Given the description of an element on the screen output the (x, y) to click on. 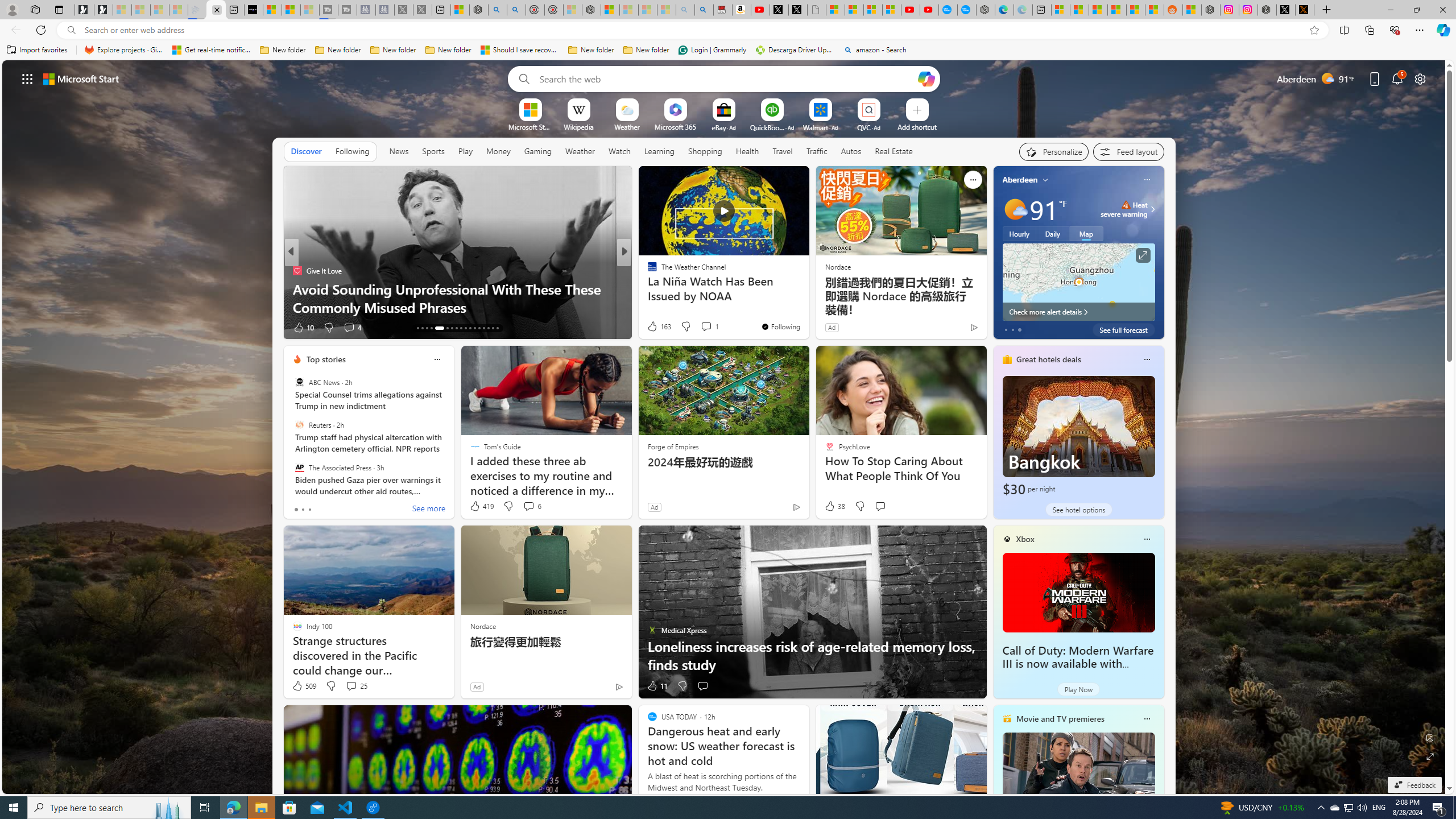
23 Like (652, 327)
AutomationID: tab-16 (431, 328)
amazon - Search - Sleeping (684, 9)
TechRadar (647, 270)
Add a site (916, 126)
View comments 11 Comment (707, 327)
View comments 5 Comment (702, 327)
